Given the description of an element on the screen output the (x, y) to click on. 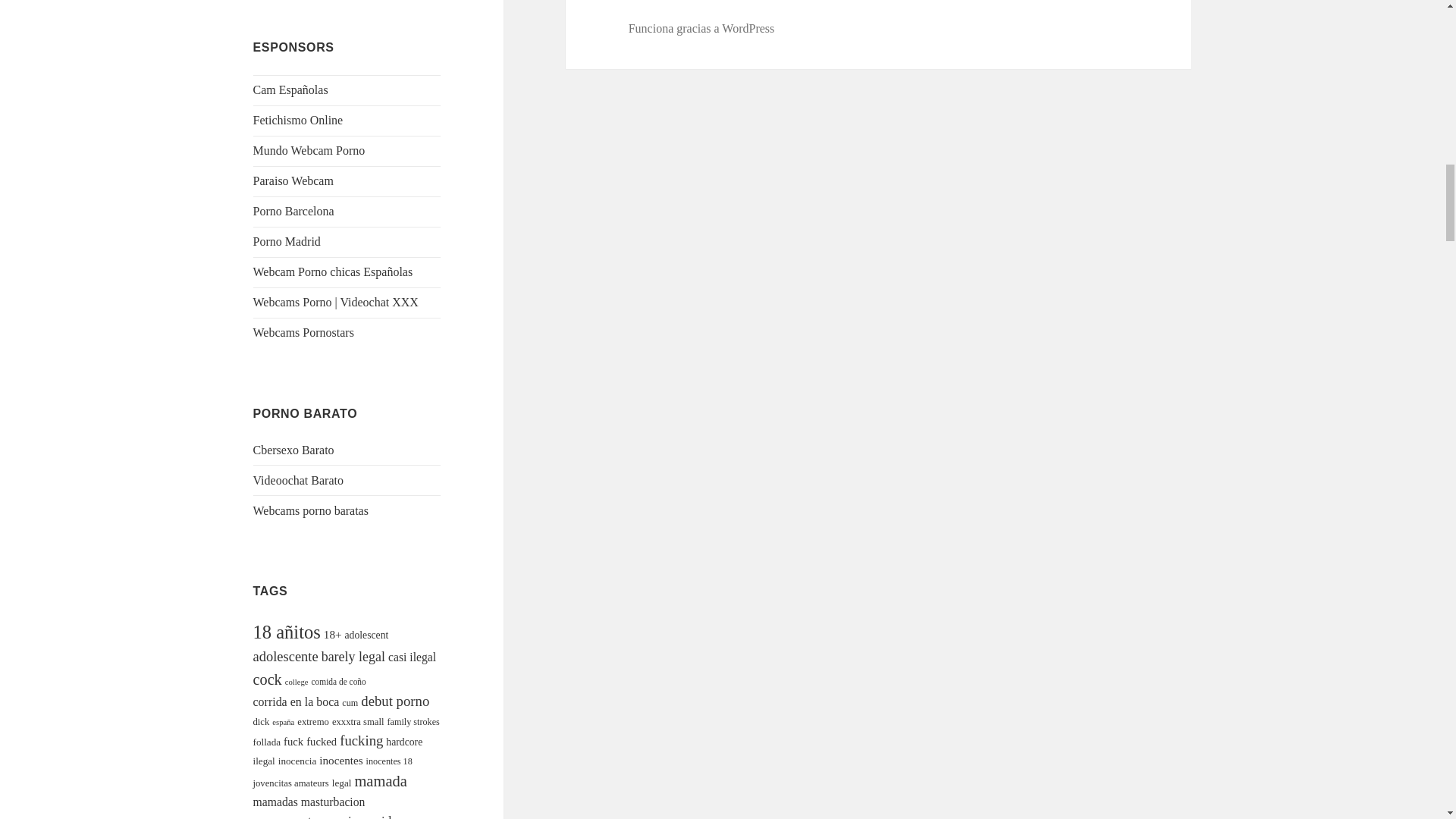
Cbersexo Barato (293, 449)
cock (267, 678)
Videoochat Barato (298, 480)
adolescente (285, 656)
casi ilegal (411, 656)
Paraiso Webcam (293, 180)
Webcams Pornostars (303, 332)
Porno Madrid (286, 241)
college (296, 682)
cum (350, 702)
